Given the description of an element on the screen output the (x, y) to click on. 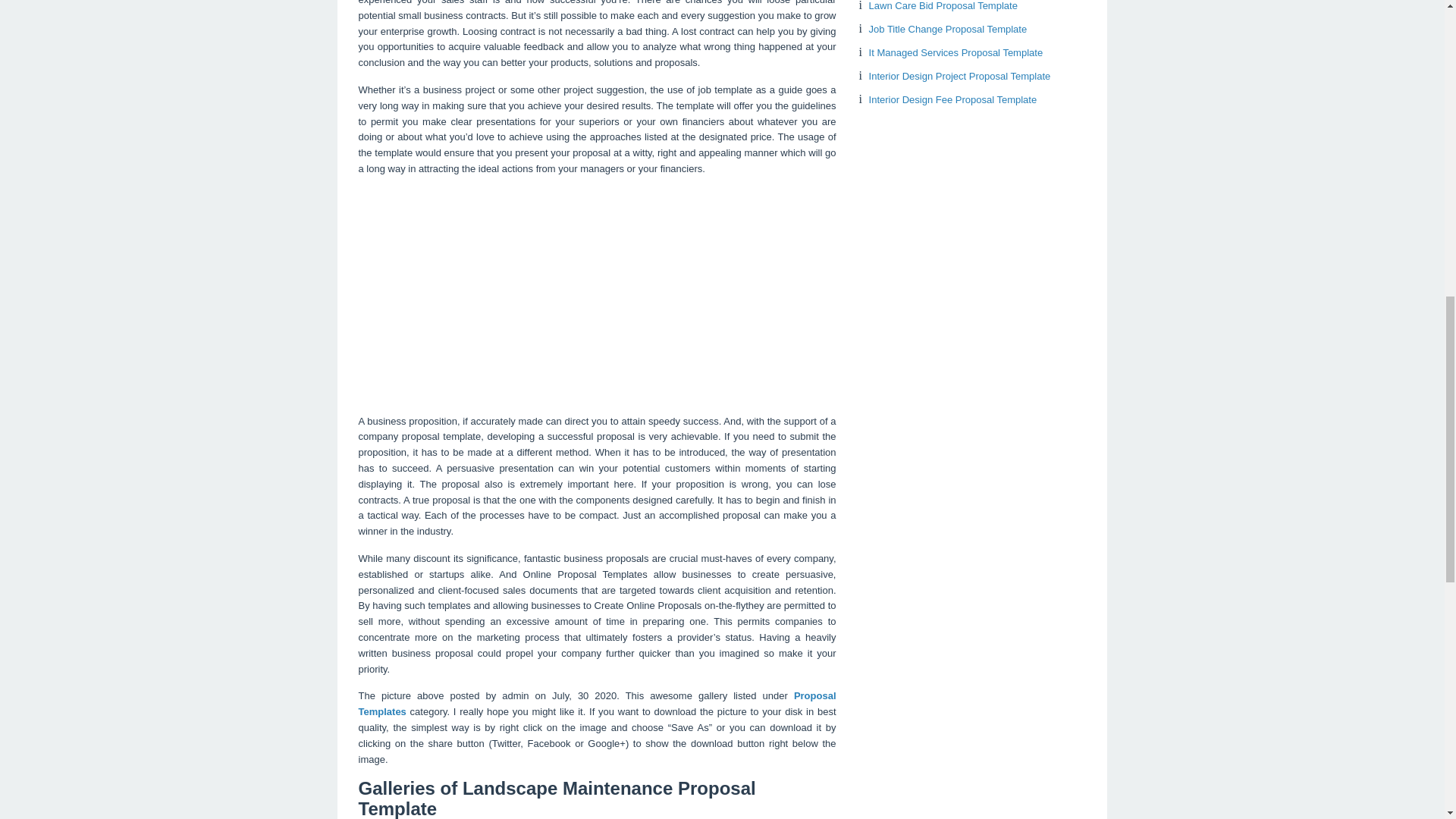
Interior Design Project Proposal Template (960, 75)
It Managed Services Proposal Template (956, 52)
Job Title Change Proposal Template (948, 29)
Lawn Care Bid Proposal Template (943, 5)
Proposal Templates (596, 703)
Interior Design Fee Proposal Template (952, 99)
